Given the description of an element on the screen output the (x, y) to click on. 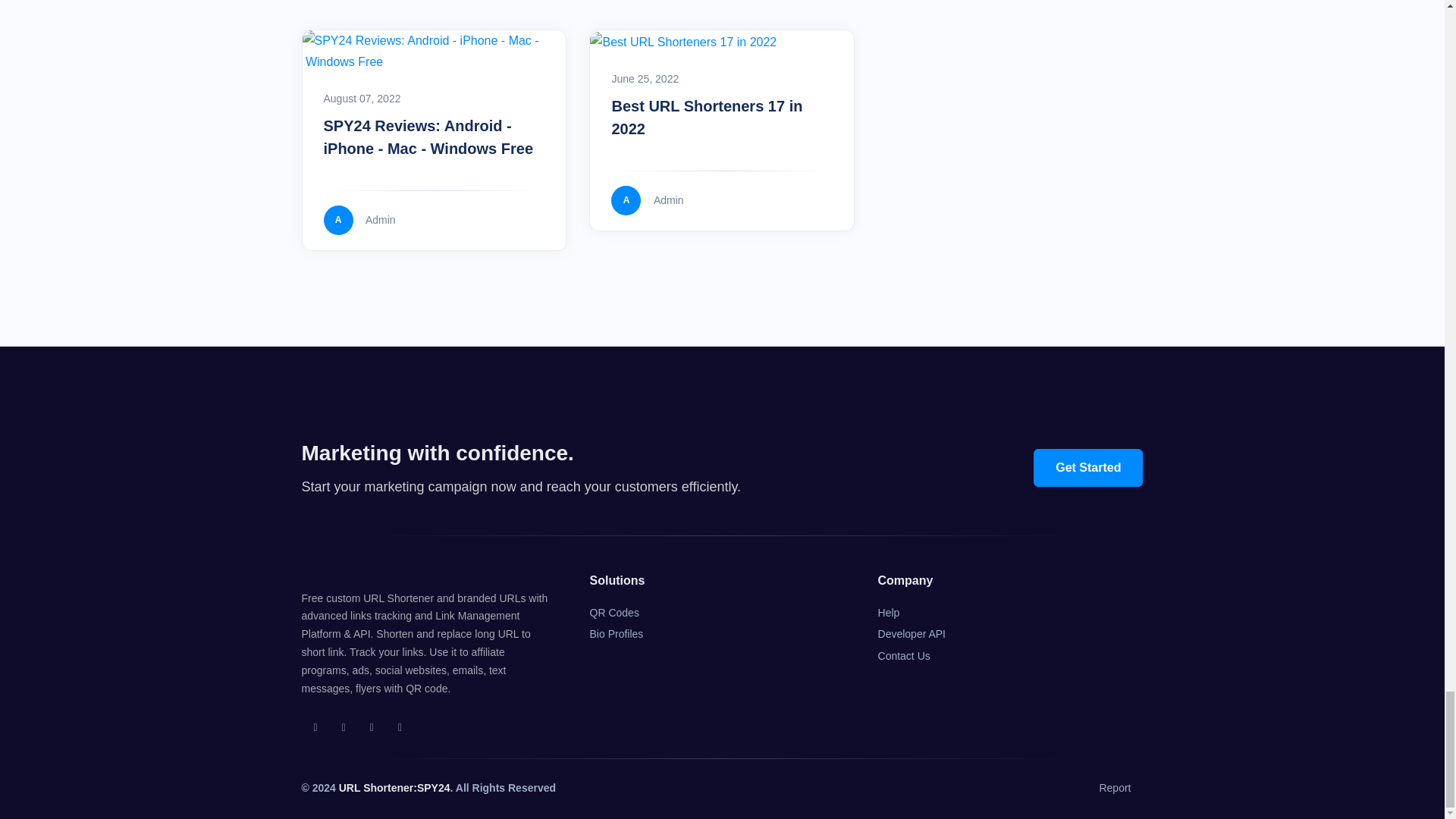
SPY24 Reviews: Android - iPhone - Mac - Windows Free (427, 137)
Help (888, 613)
Developer API (911, 634)
QR Codes (614, 613)
Get Started (1087, 467)
Bio Profiles (616, 634)
Report (1114, 788)
Best URL Shorteners 17 in 2022 (706, 117)
URL Shortener:SPY24 (394, 787)
Contact Us (903, 656)
